Given the description of an element on the screen output the (x, y) to click on. 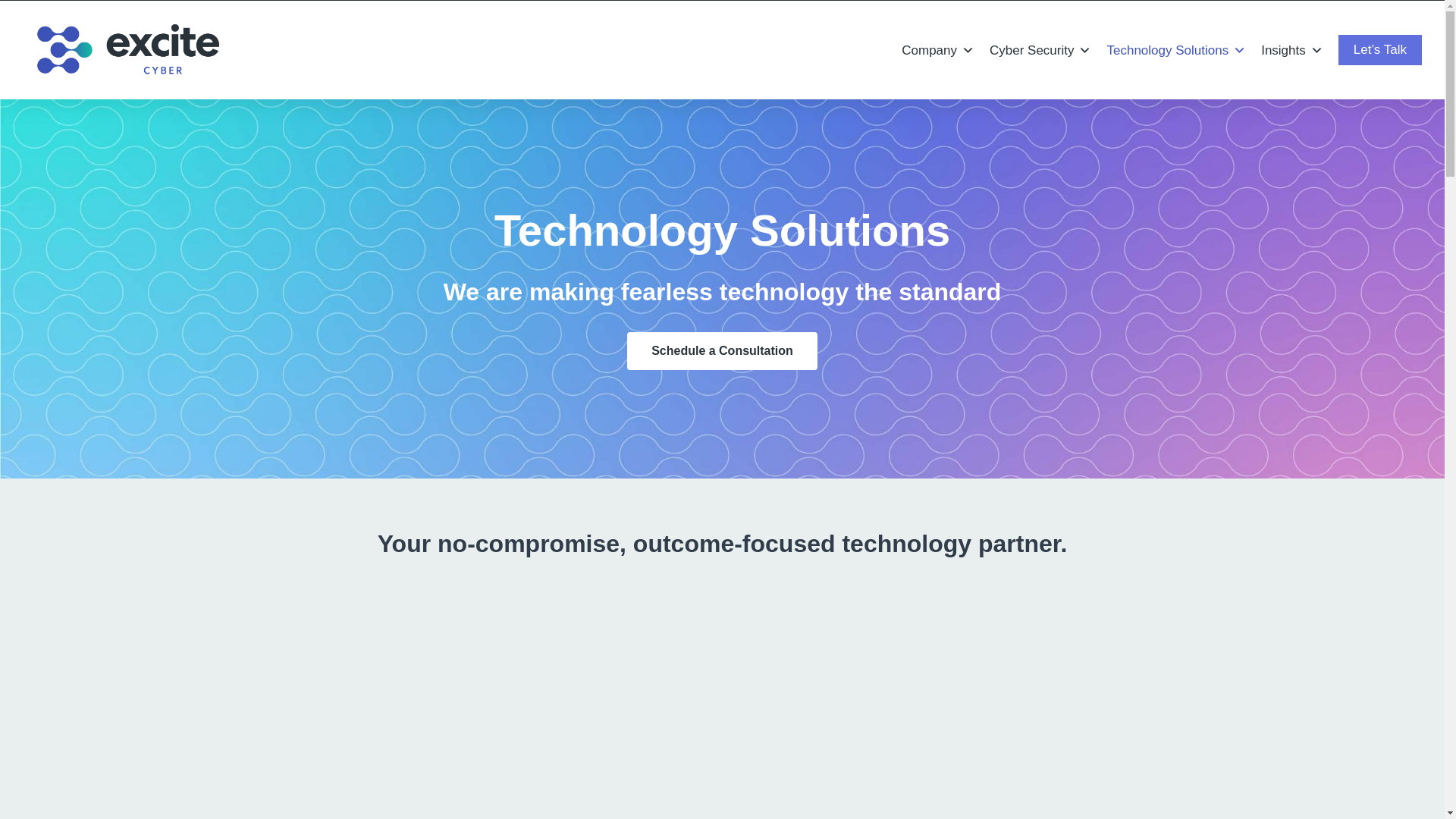
Technology Solutions (1176, 49)
Cyber Security (1040, 49)
Company (937, 49)
Insights (1291, 49)
